Given the description of an element on the screen output the (x, y) to click on. 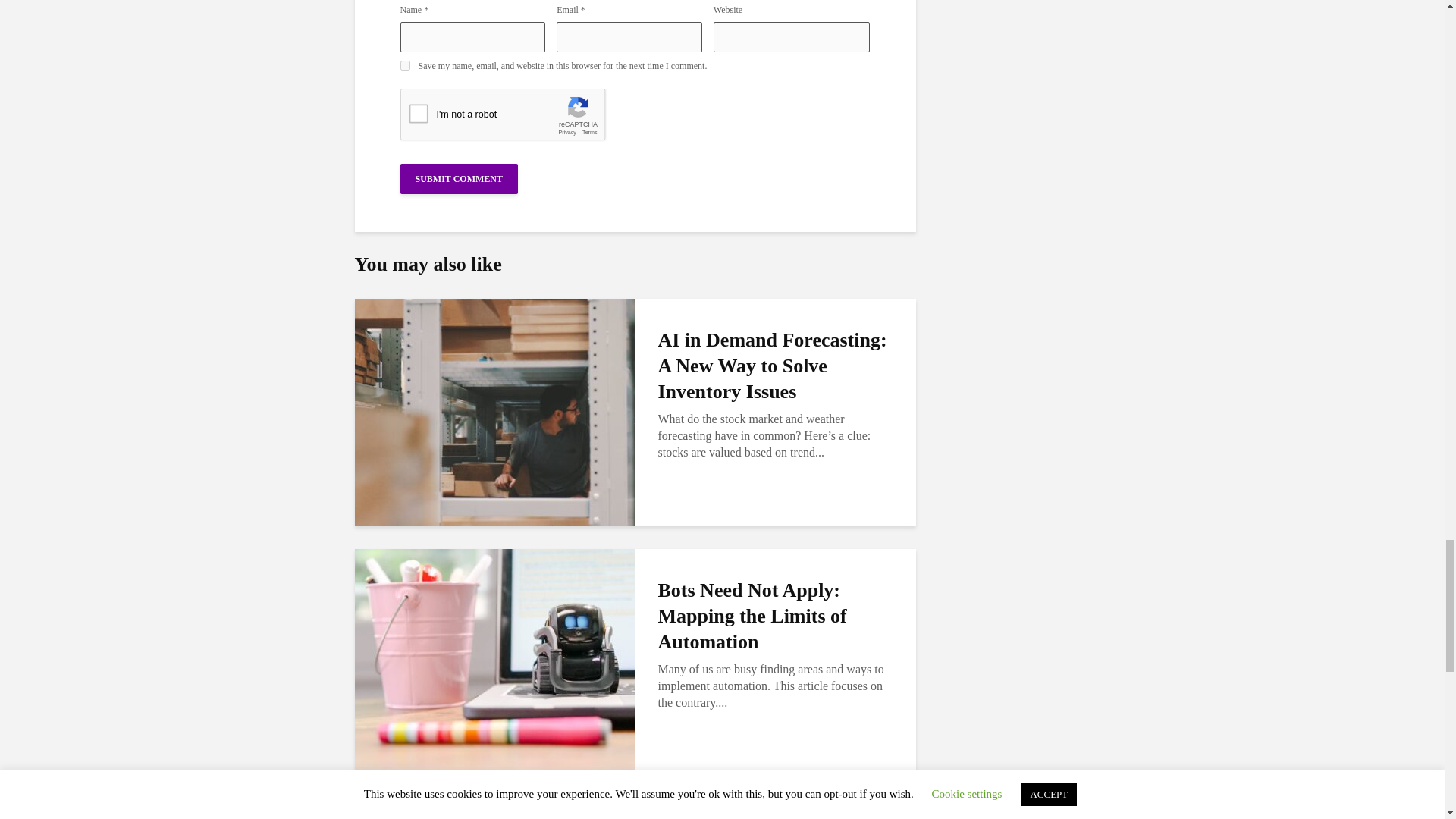
reCAPTCHA (515, 118)
yes (405, 65)
Bots Need Not Apply: Mapping the Limits of Automation (494, 661)
Submit Comment (459, 178)
